Given the description of an element on the screen output the (x, y) to click on. 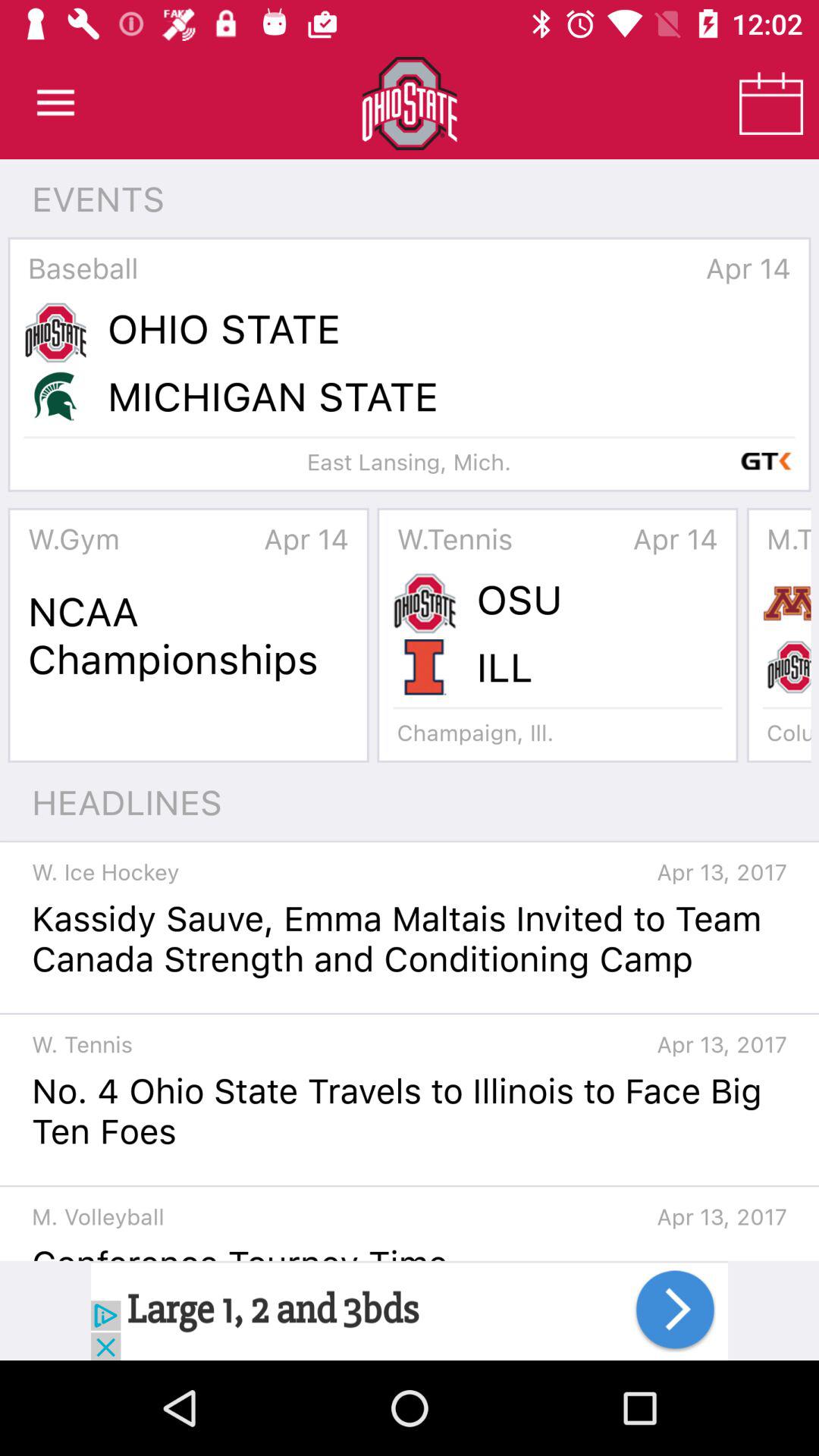
advertisement (409, 1310)
